Given the description of an element on the screen output the (x, y) to click on. 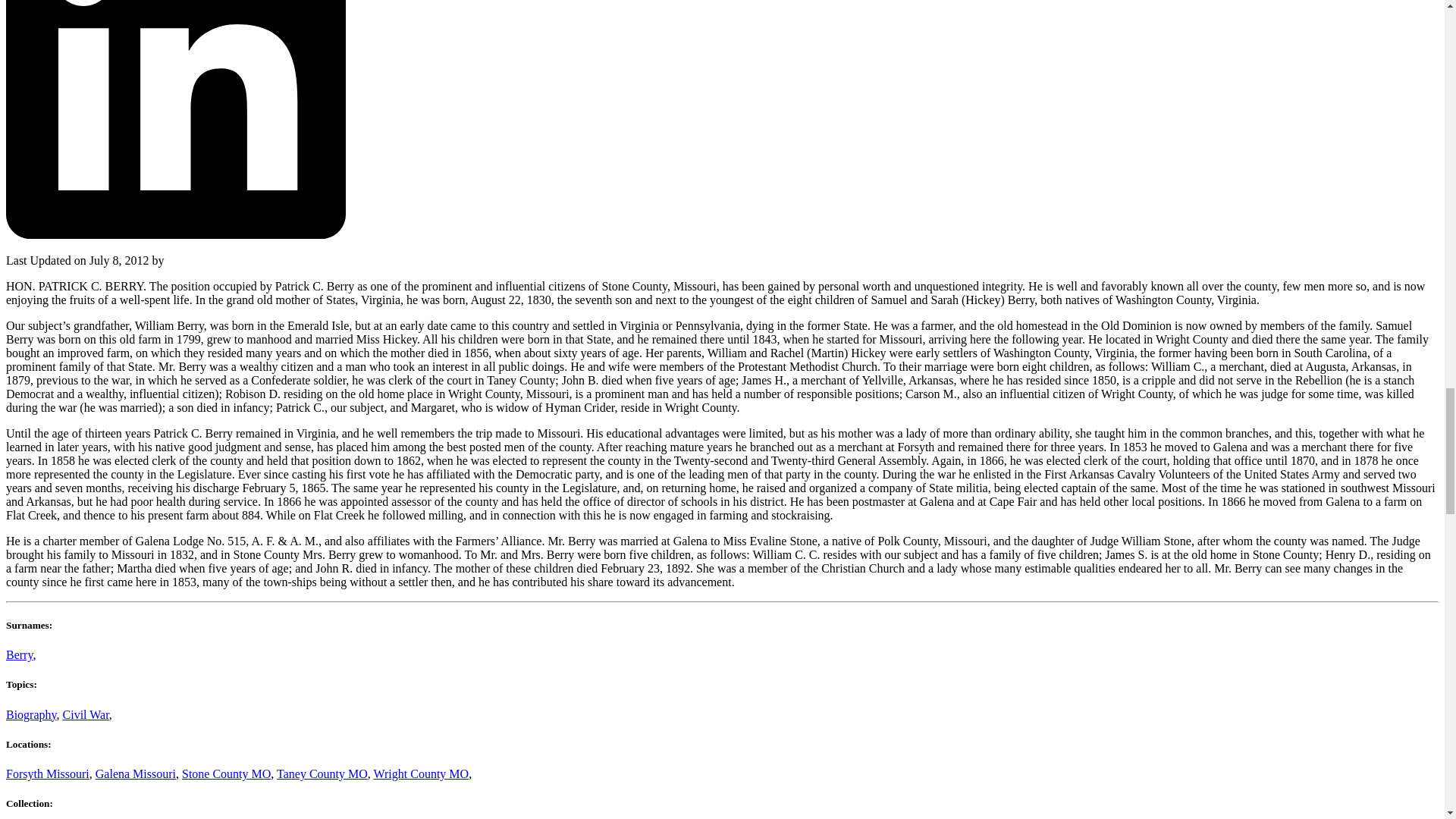
Civil War (85, 714)
Biography (30, 714)
Galena Missouri (136, 773)
Stone County MO (226, 773)
Forsyth Missouri (46, 773)
Wright County MO (421, 773)
Taney County MO (322, 773)
Berry (18, 654)
